Given the description of an element on the screen output the (x, y) to click on. 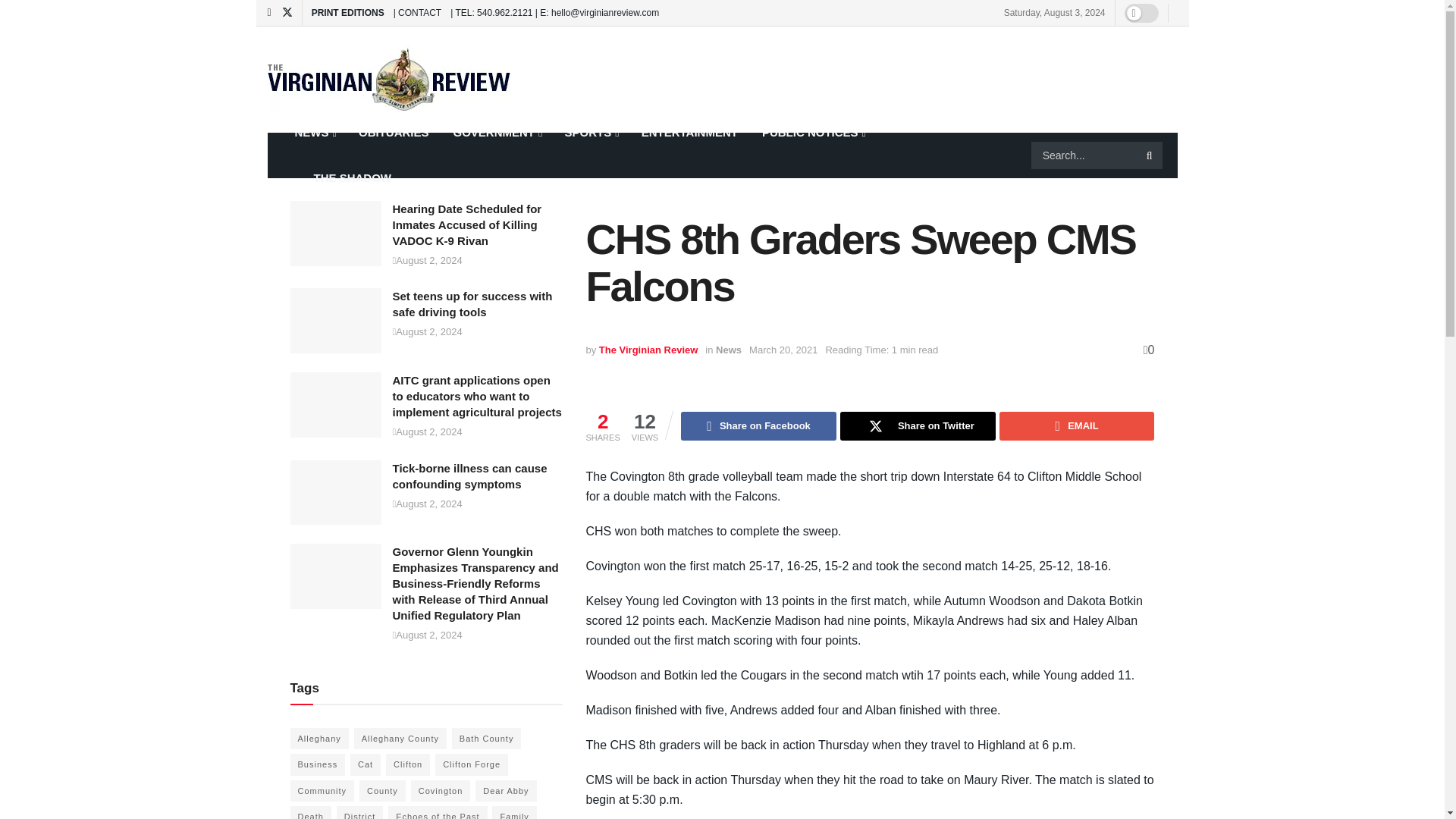
SPORTS (589, 132)
OBITUARIES (393, 132)
PUBLIC NOTICES (812, 132)
NEWS (314, 132)
GOVERNMENT (497, 132)
PRINT EDITIONS (347, 12)
ENTERTAINMENT (688, 132)
THE SHADOW (342, 177)
